Given the description of an element on the screen output the (x, y) to click on. 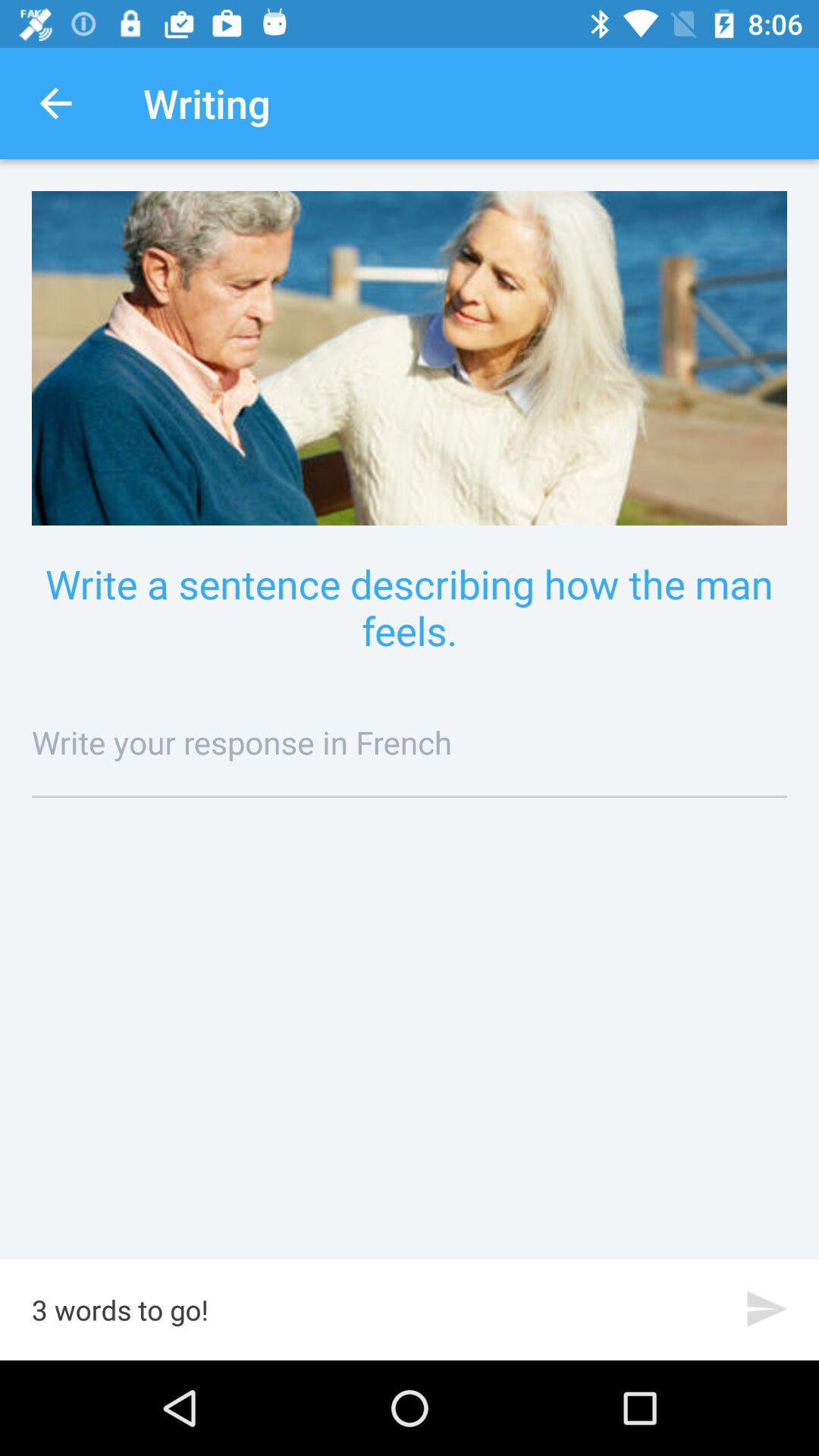
turn off the item below write a sentence item (409, 741)
